Given the description of an element on the screen output the (x, y) to click on. 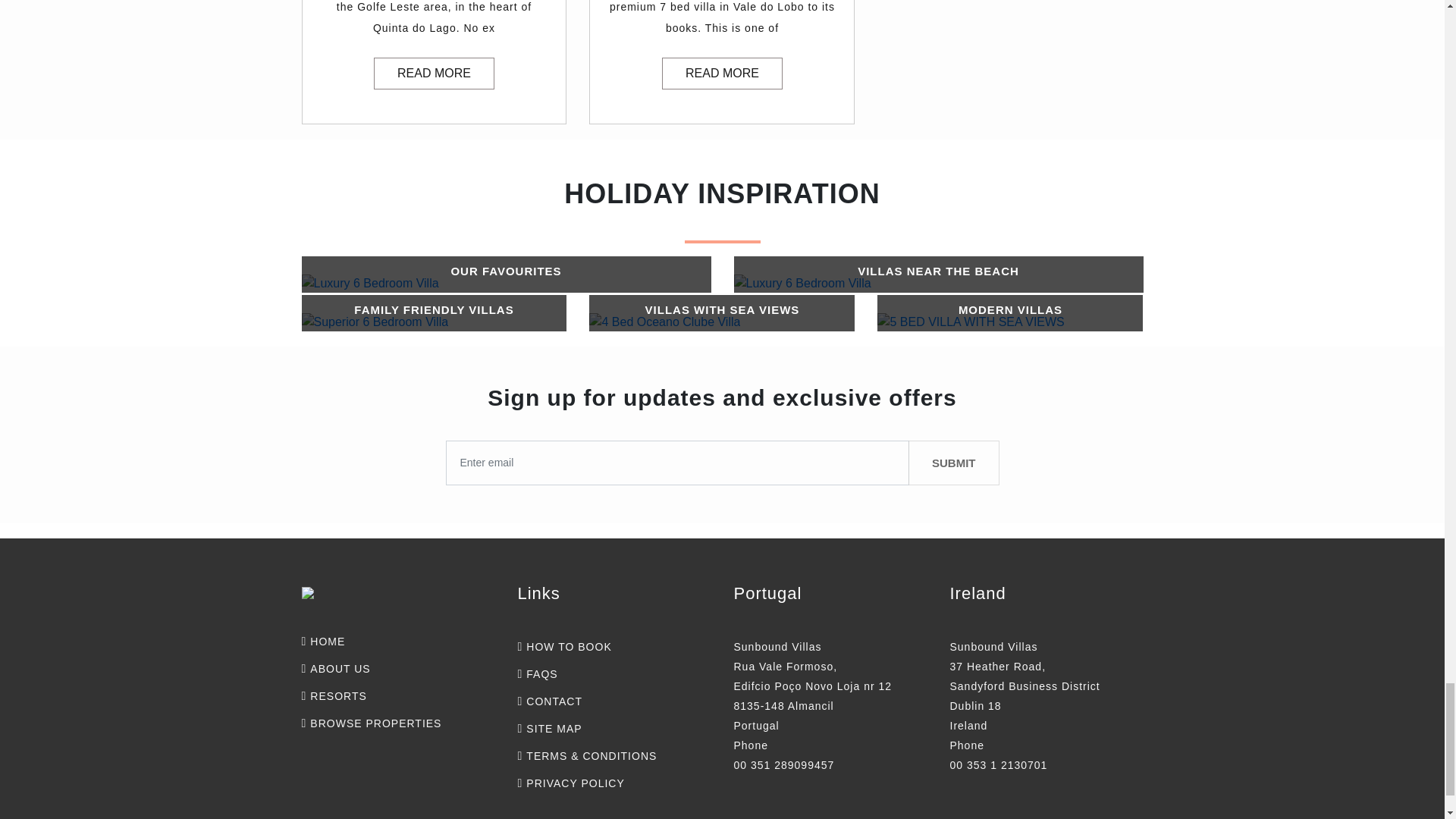
4 Bed Oceano Clube Villa (664, 321)
Luxury 6 Bedroom Villa (801, 283)
4 Bed Oceano Clube Villa (722, 309)
Luxury 6 Bedroom Villa (370, 283)
Luxury 6 Bedroom Villa (938, 270)
Superior 6 Bedroom Villa (433, 309)
Luxury 6 Bedroom Villa (504, 270)
5 BED VILLA WITH SEA VIEWS (1010, 309)
5 BED VILLA WITH SEA VIEWS (970, 321)
SUBMIT (953, 462)
